Given the description of an element on the screen output the (x, y) to click on. 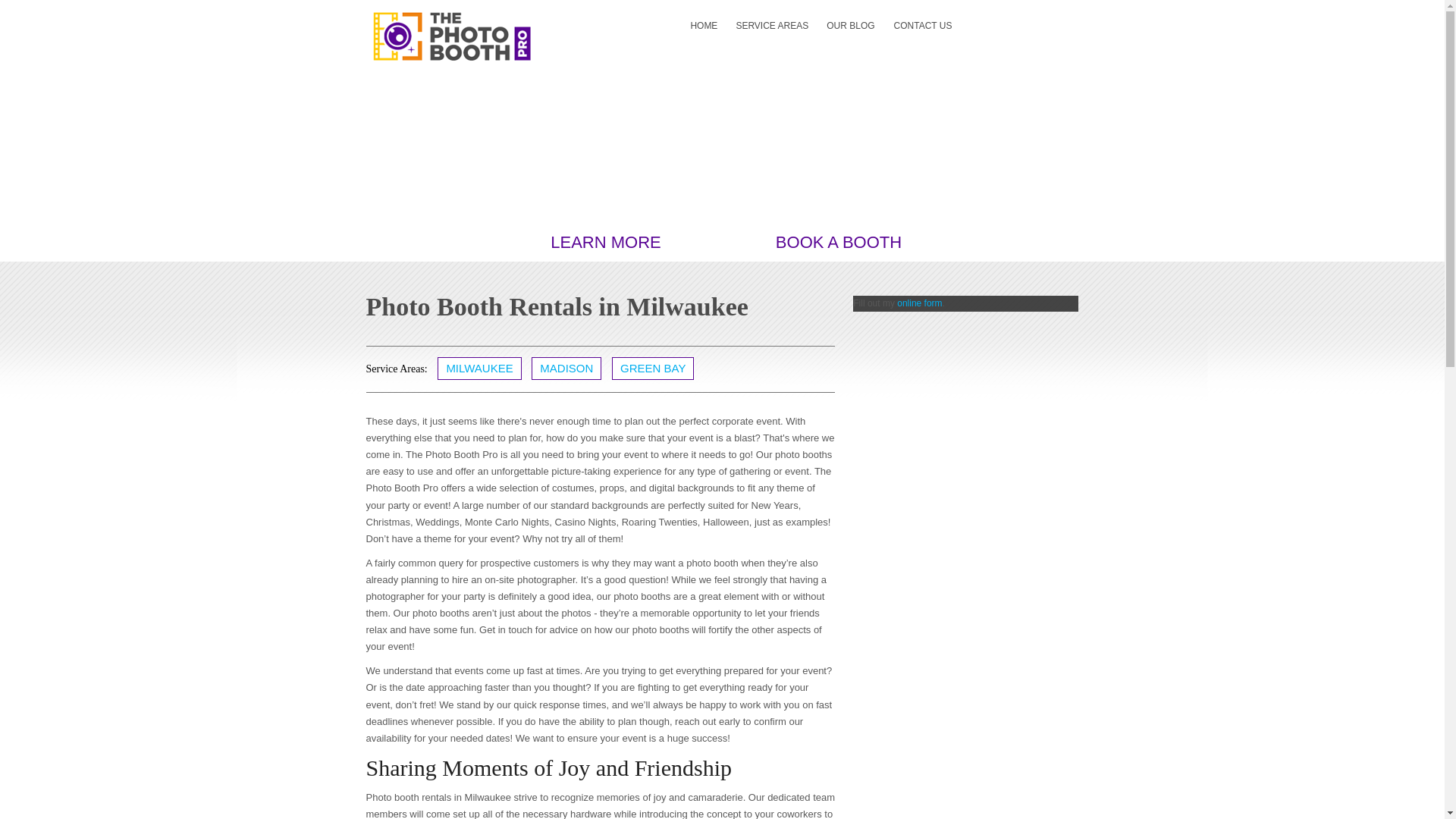
CONTACT US (922, 27)
LEARN MORE (604, 241)
MILWAUKEE (479, 368)
SCROLL DOWN (721, 241)
BOOK A BOOTH (839, 241)
MADISON (566, 368)
online form (919, 303)
OUR BLOG (850, 27)
GREEN BAY (652, 368)
Request Quote (1018, 9)
